Given the description of an element on the screen output the (x, y) to click on. 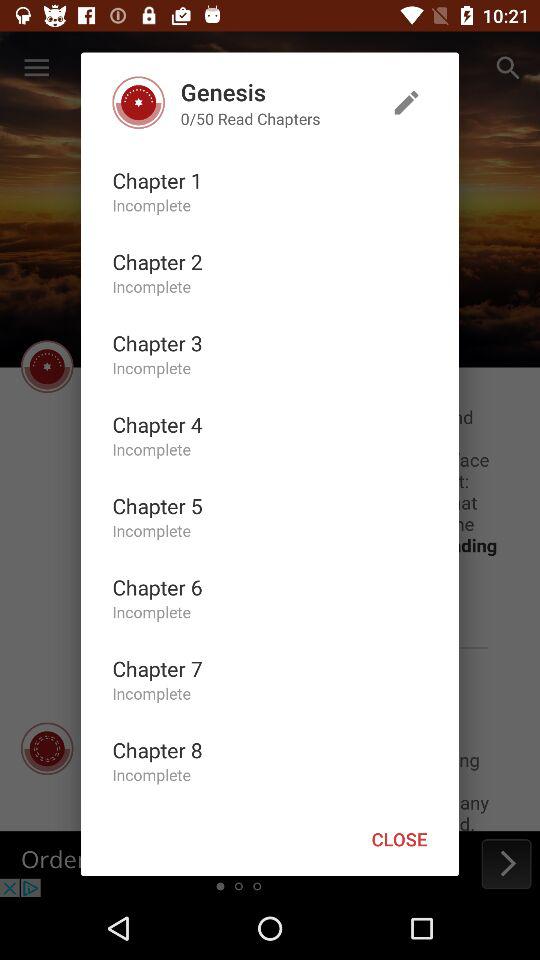
turn off the item below incomplete (157, 505)
